Given the description of an element on the screen output the (x, y) to click on. 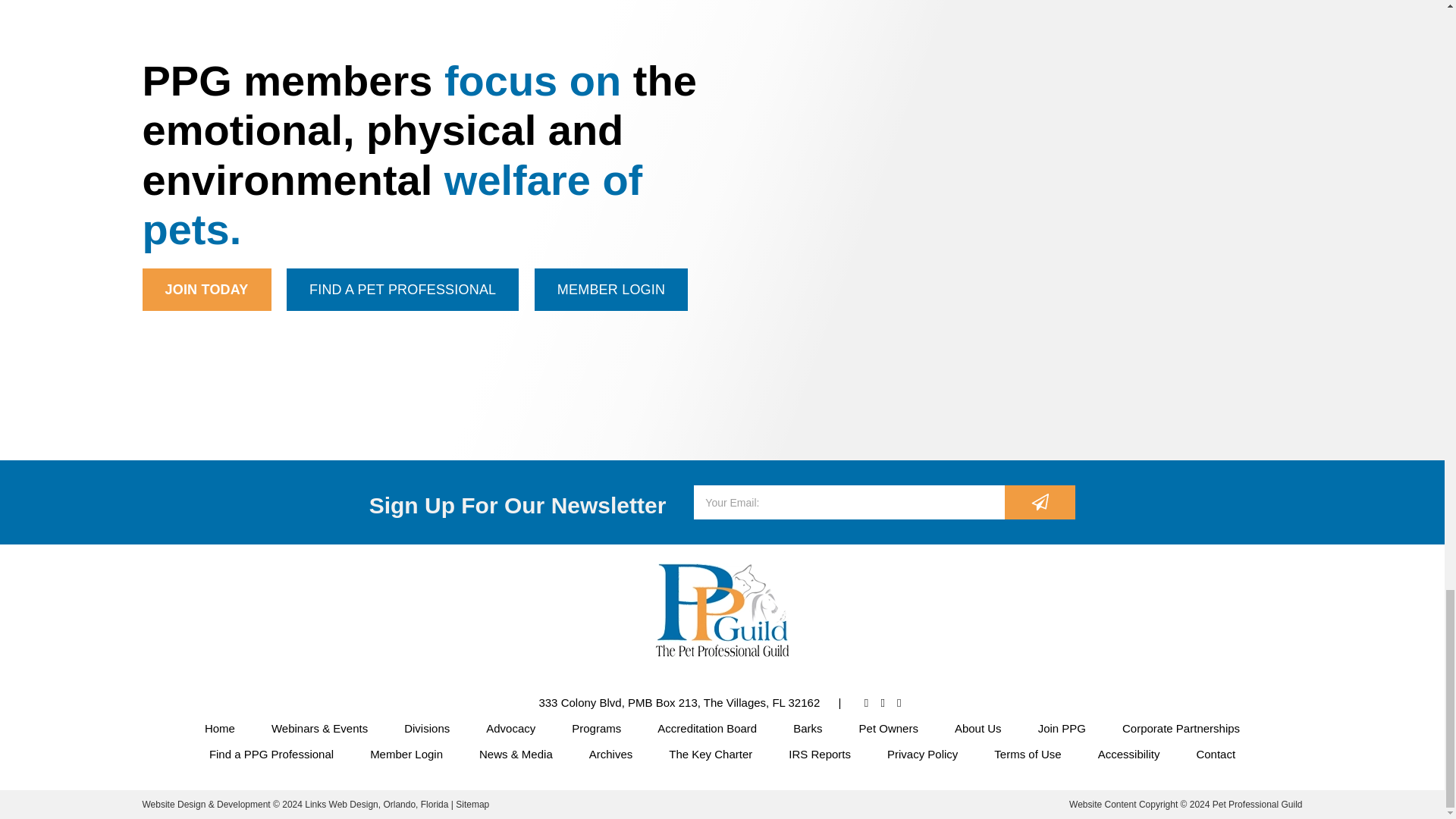
Links Web Design, Bangor, Maine (377, 804)
